Given the description of an element on the screen output the (x, y) to click on. 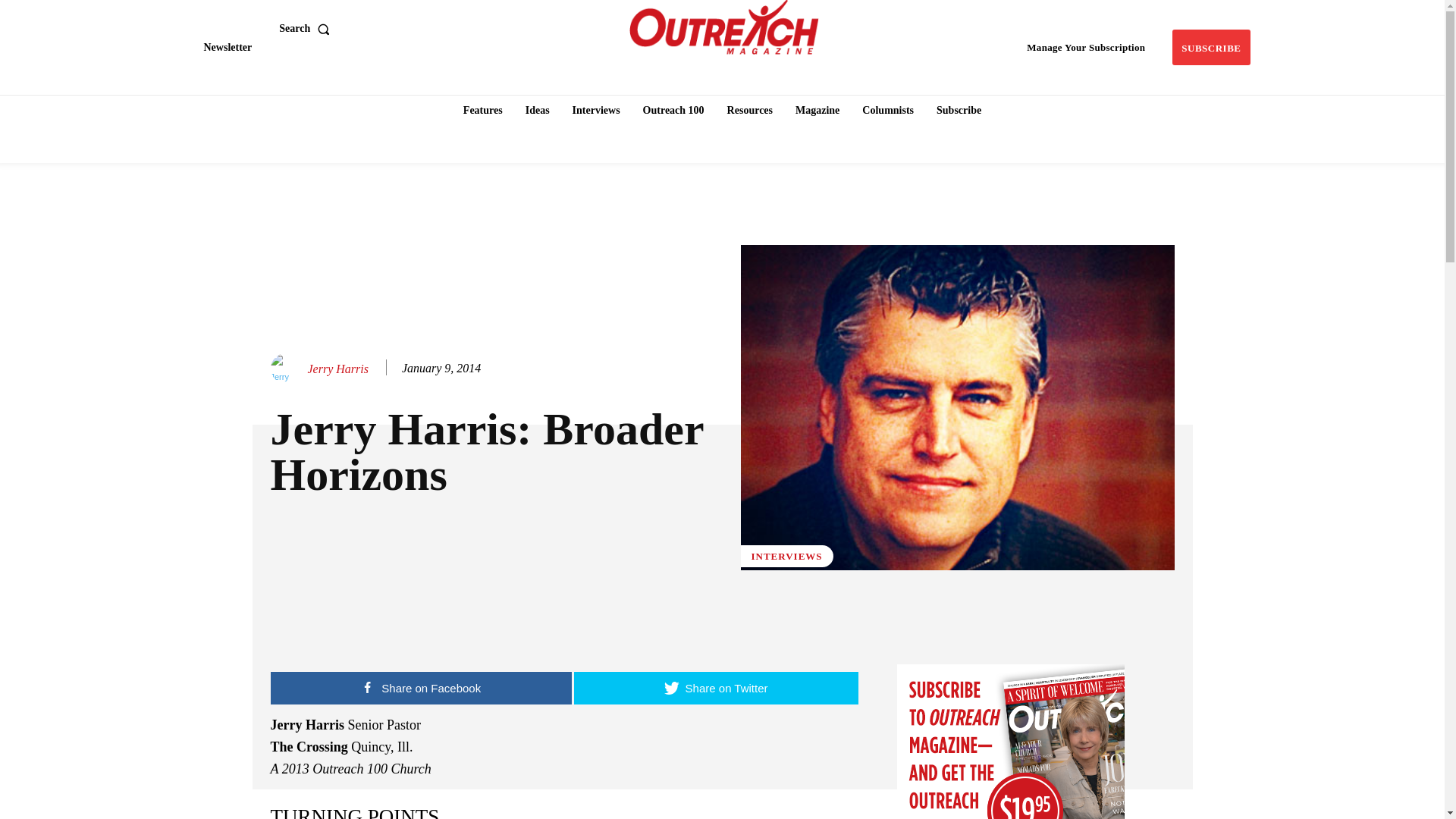
Manage Your Subscription (1085, 47)
Newsletter (226, 47)
Subscribe (1210, 47)
